Given the description of an element on the screen output the (x, y) to click on. 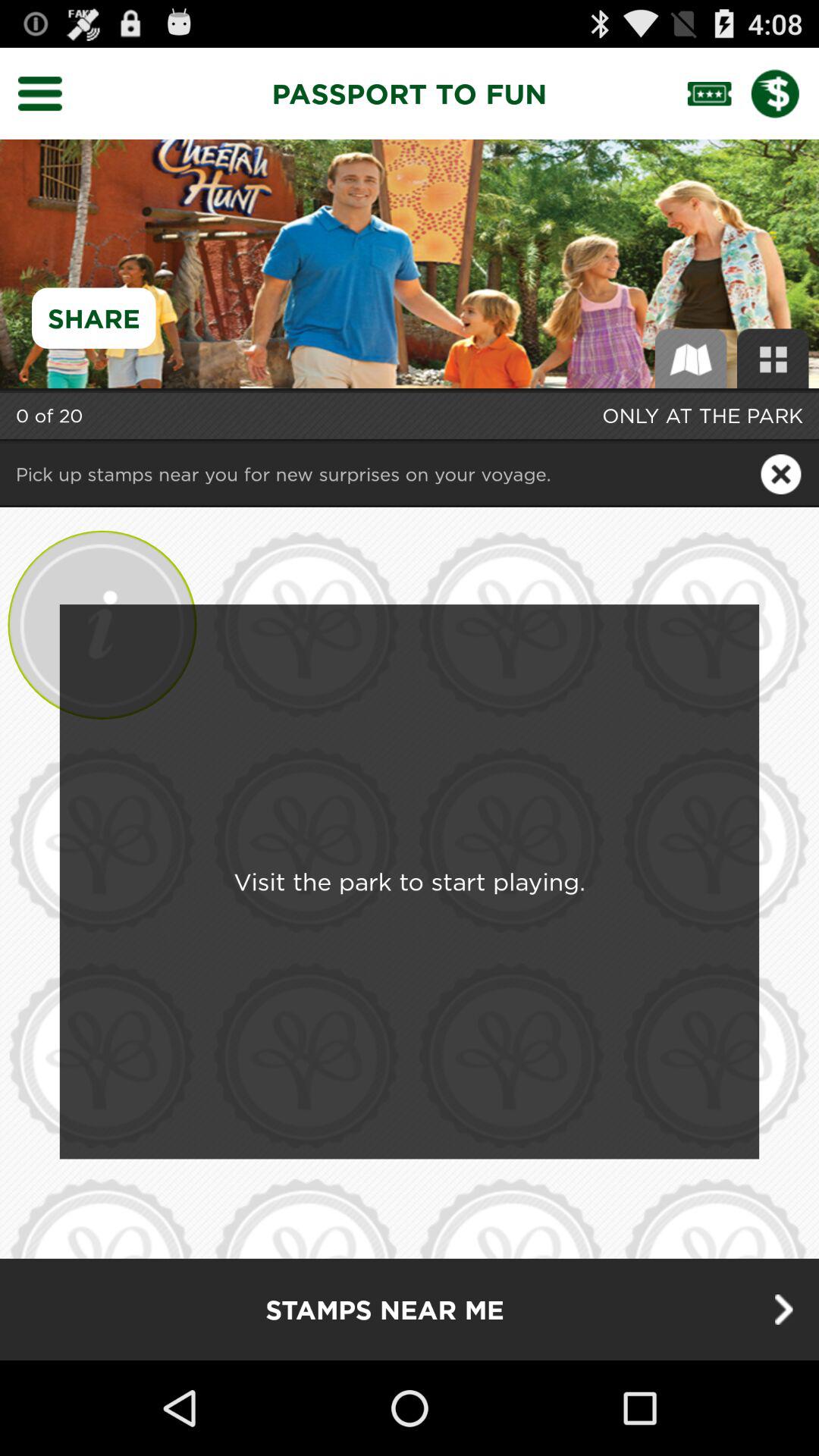
click on right arrow at bottom right (784, 1309)
